Given the description of an element on the screen output the (x, y) to click on. 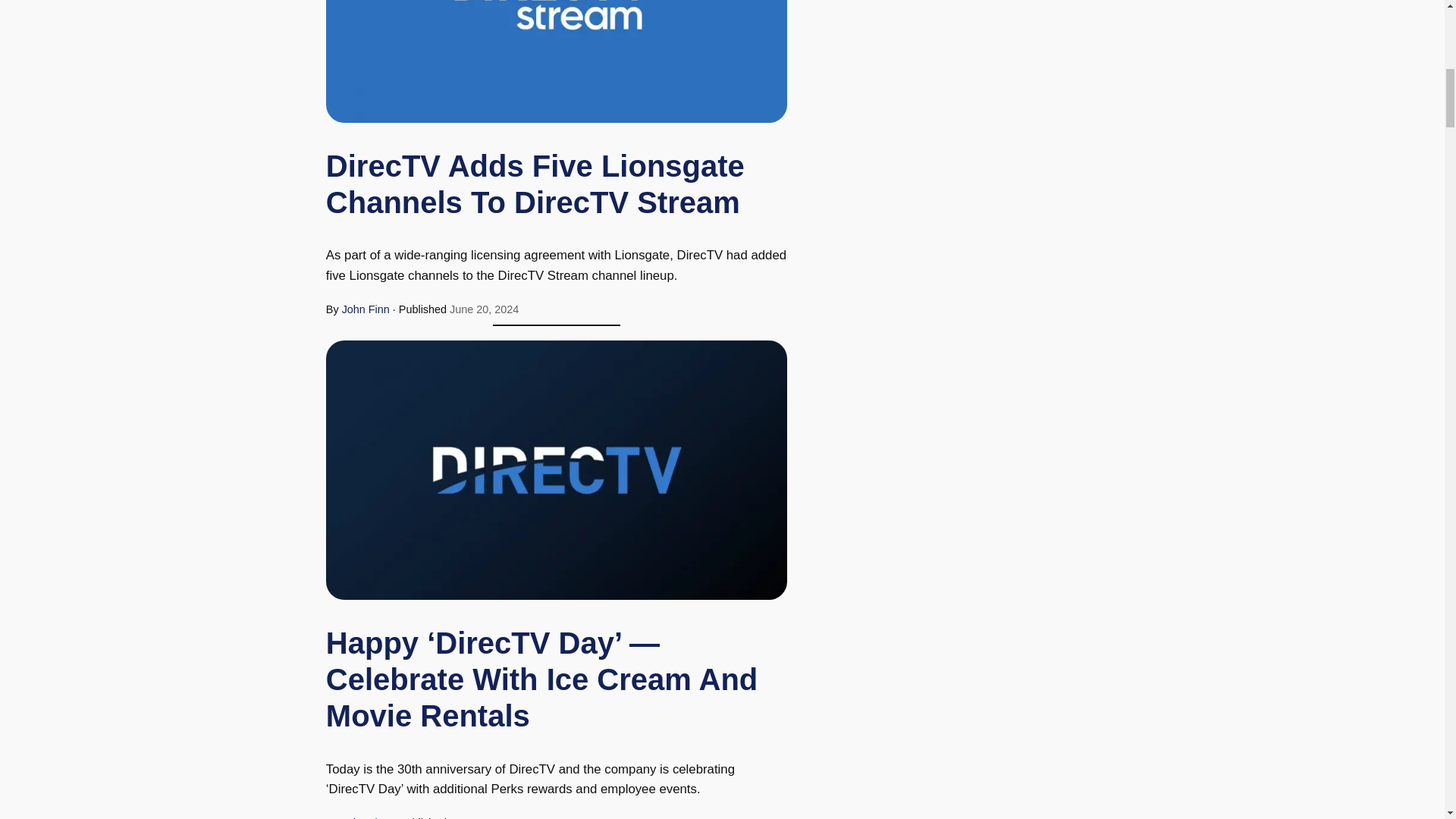
DirecTV Adds Five Lionsgate Channels To DirecTV Stream (556, 184)
John Finn (366, 817)
John Finn (366, 309)
